Given the description of an element on the screen output the (x, y) to click on. 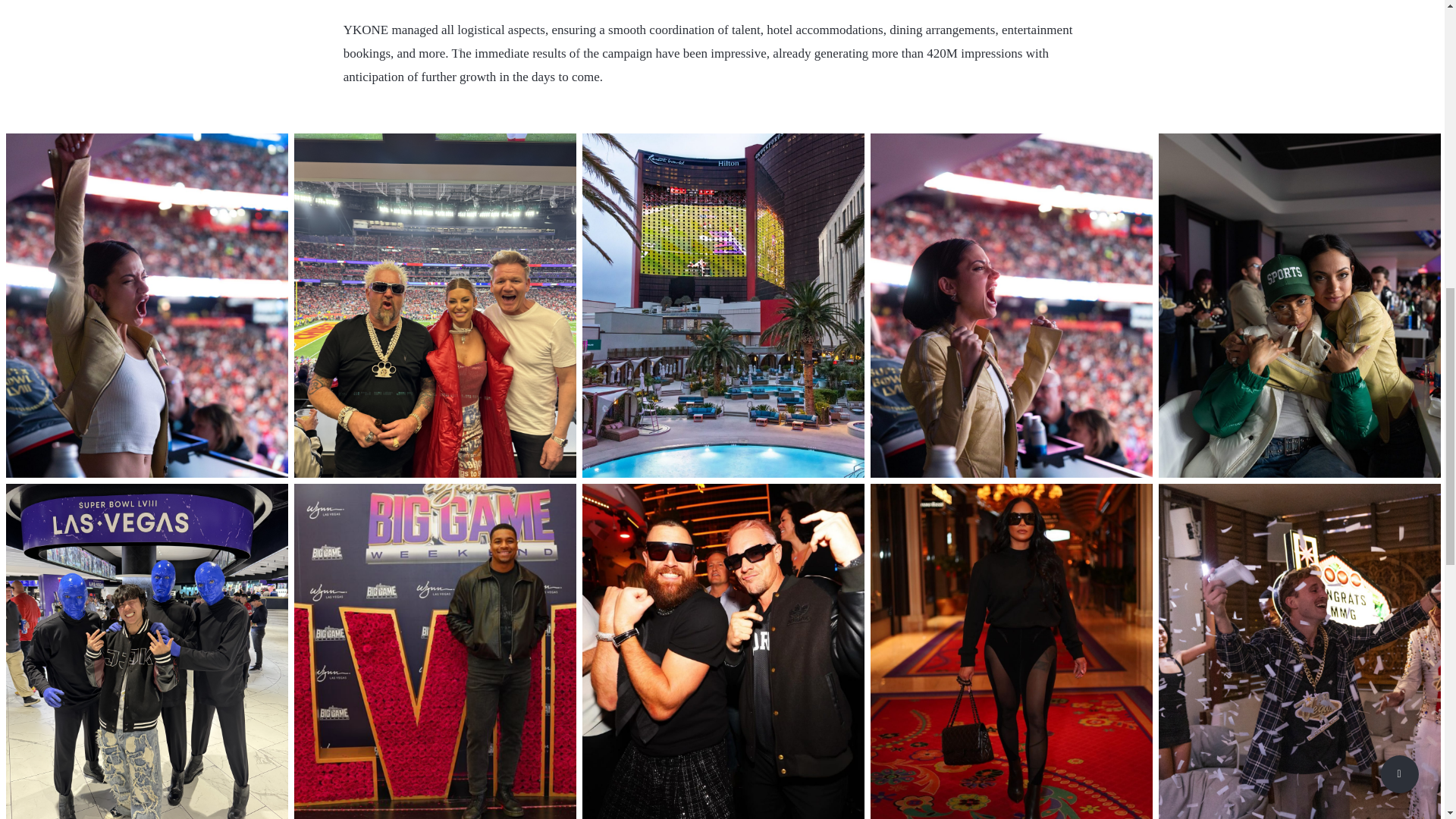
YKONE (365, 29)
